Given the description of an element on the screen output the (x, y) to click on. 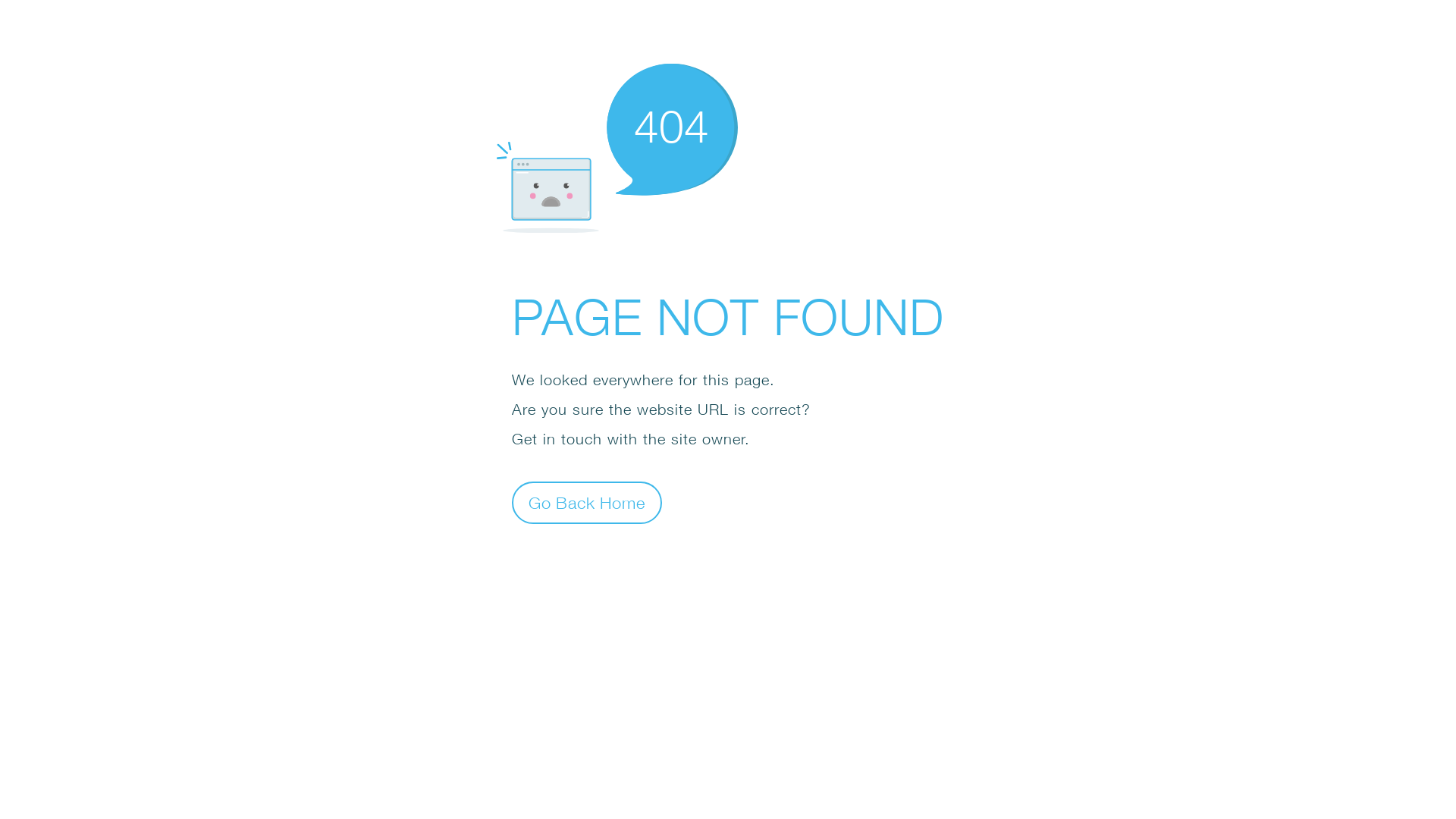
Go Back Home Element type: text (586, 502)
